Given the description of an element on the screen output the (x, y) to click on. 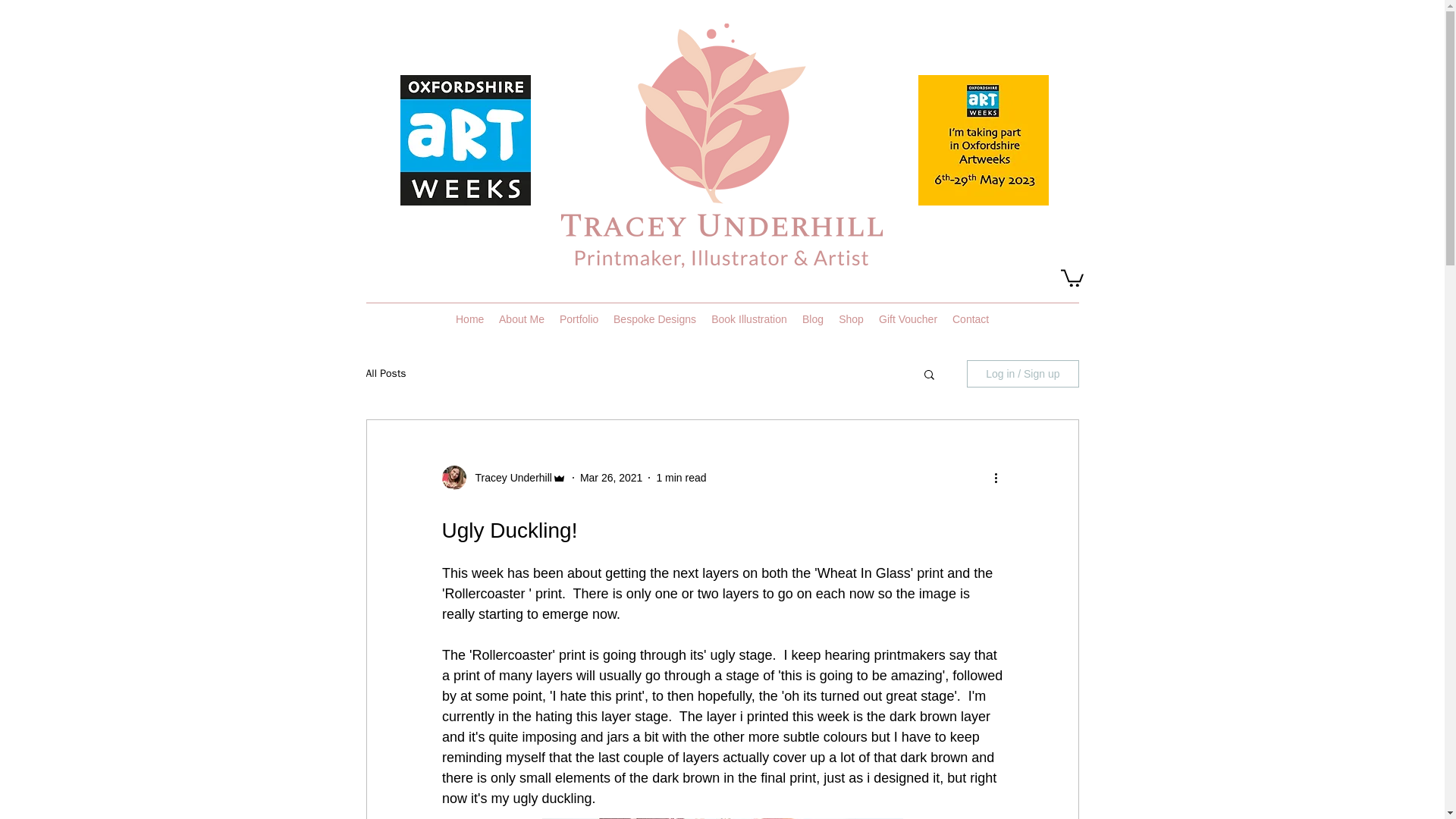
Book Illustration (748, 318)
1 min read (681, 477)
Gift Voucher (907, 318)
Tracey Underhill (508, 478)
Shop (850, 318)
Mar 26, 2021 (611, 477)
About Me (521, 318)
Home (470, 318)
Blog (812, 318)
Original on Transparent.png (721, 145)
Portfolio (578, 318)
Bespoke Designs (654, 318)
All Posts (385, 373)
Contact (969, 318)
